Given the description of an element on the screen output the (x, y) to click on. 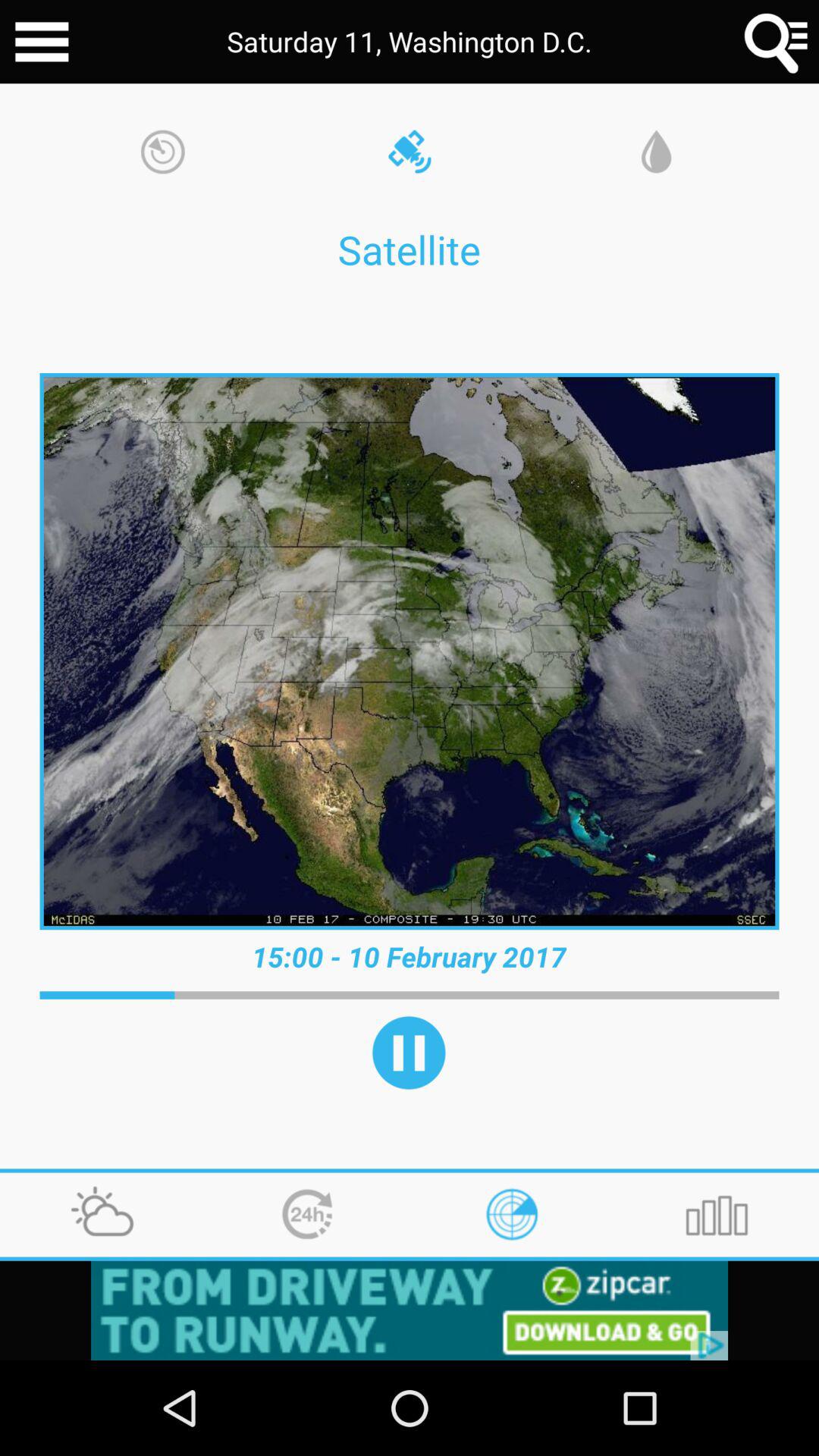
go to pause (409, 1052)
